Given the description of an element on the screen output the (x, y) to click on. 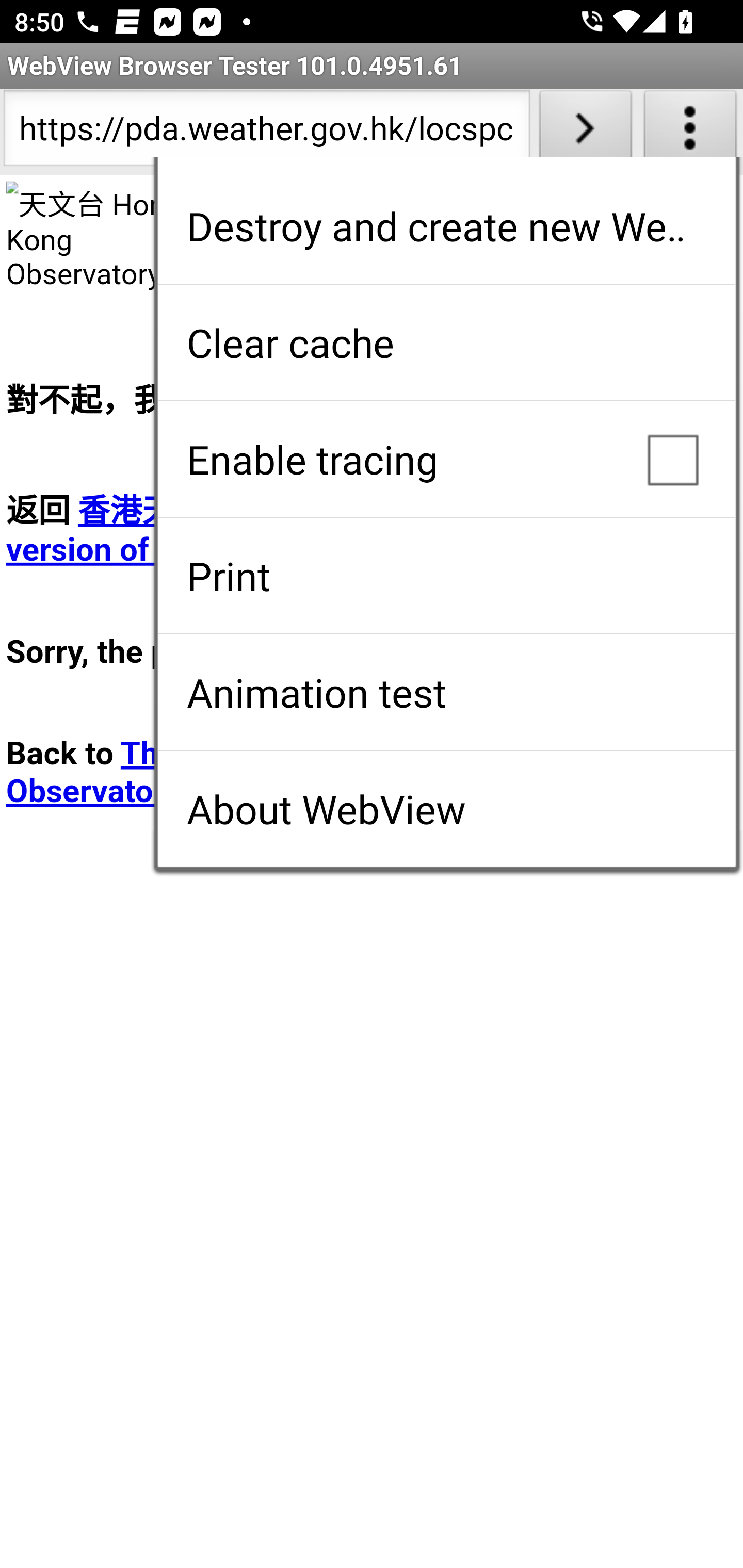
Destroy and create new WebView (446, 225)
Clear cache (446, 342)
Enable tracing (446, 459)
Print (446, 575)
Animation test (446, 692)
About WebView (446, 809)
